Given the description of an element on the screen output the (x, y) to click on. 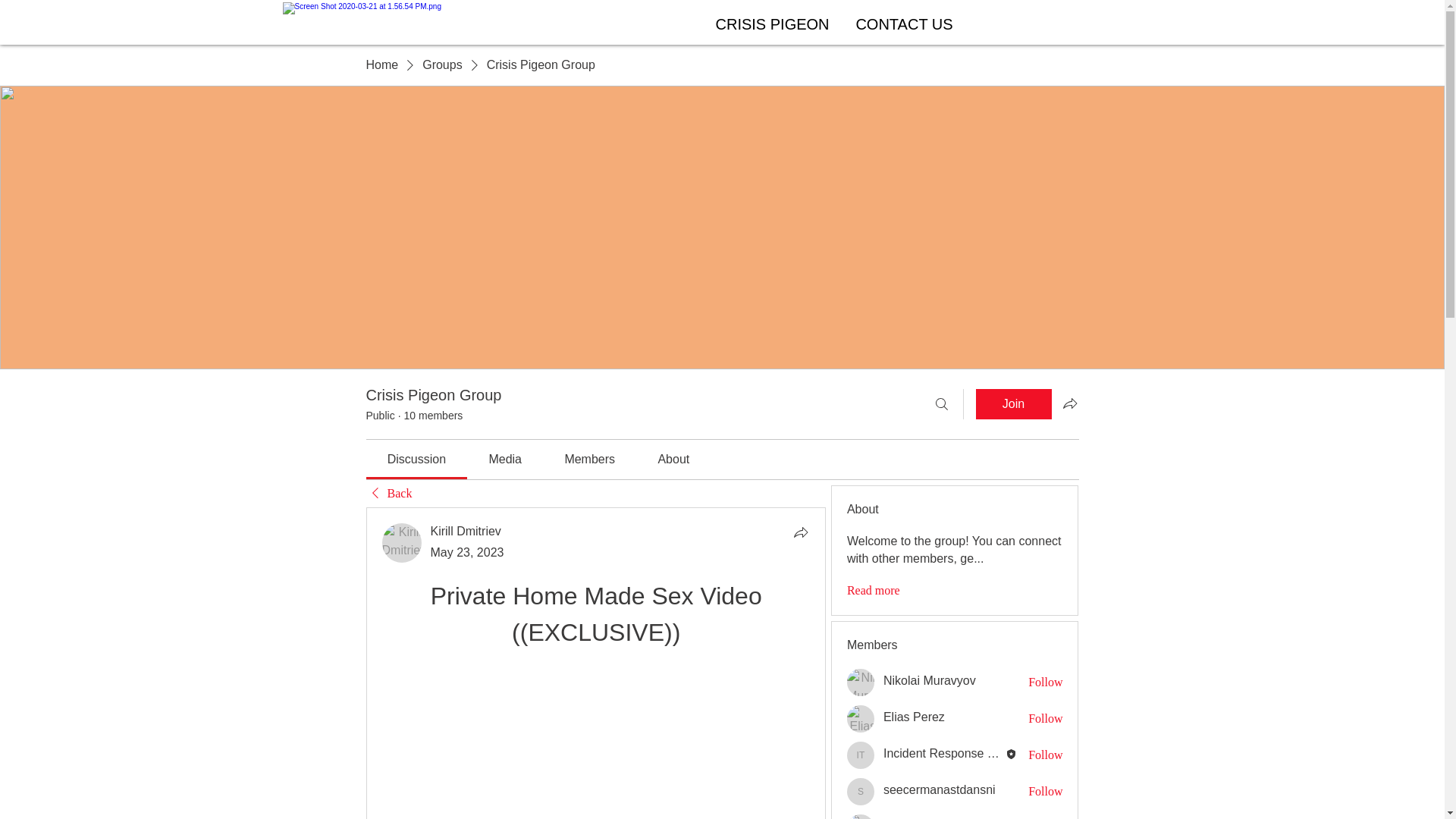
seecermanastdansni (861, 791)
Join (1013, 404)
Kirill Dmitriev (401, 542)
Incident Response Team (943, 753)
Groups (441, 64)
Follow (1044, 682)
CRISIS PIGEON (770, 21)
Elias Perez (913, 717)
seecermanastdansni (939, 790)
Nikolai Muravyov (929, 680)
